Given the description of an element on the screen output the (x, y) to click on. 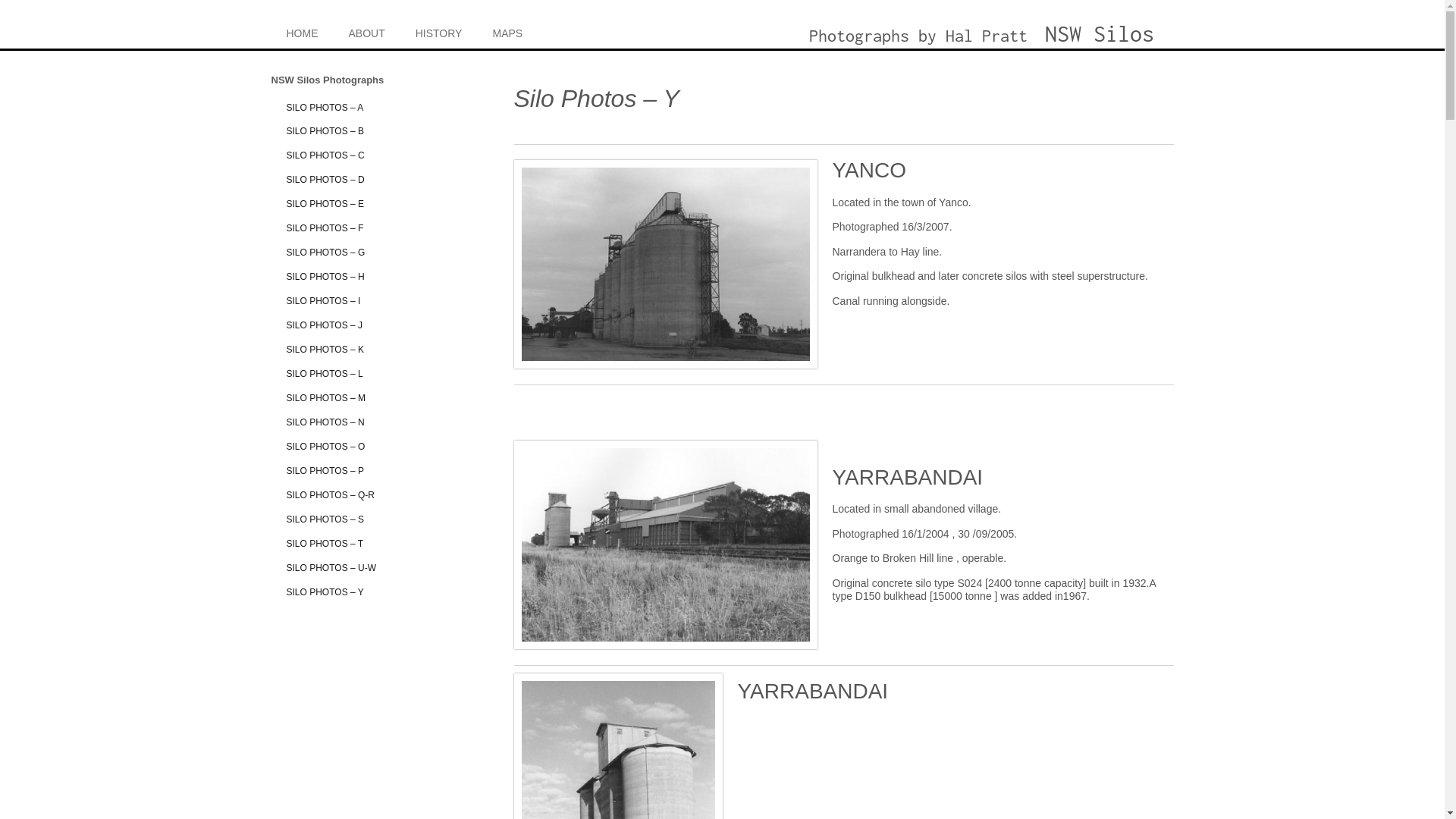
HOME Element type: text (302, 31)
HISTORY Element type: text (438, 31)
MAPS Element type: text (506, 31)
ABOUT Element type: text (366, 31)
